Given the description of an element on the screen output the (x, y) to click on. 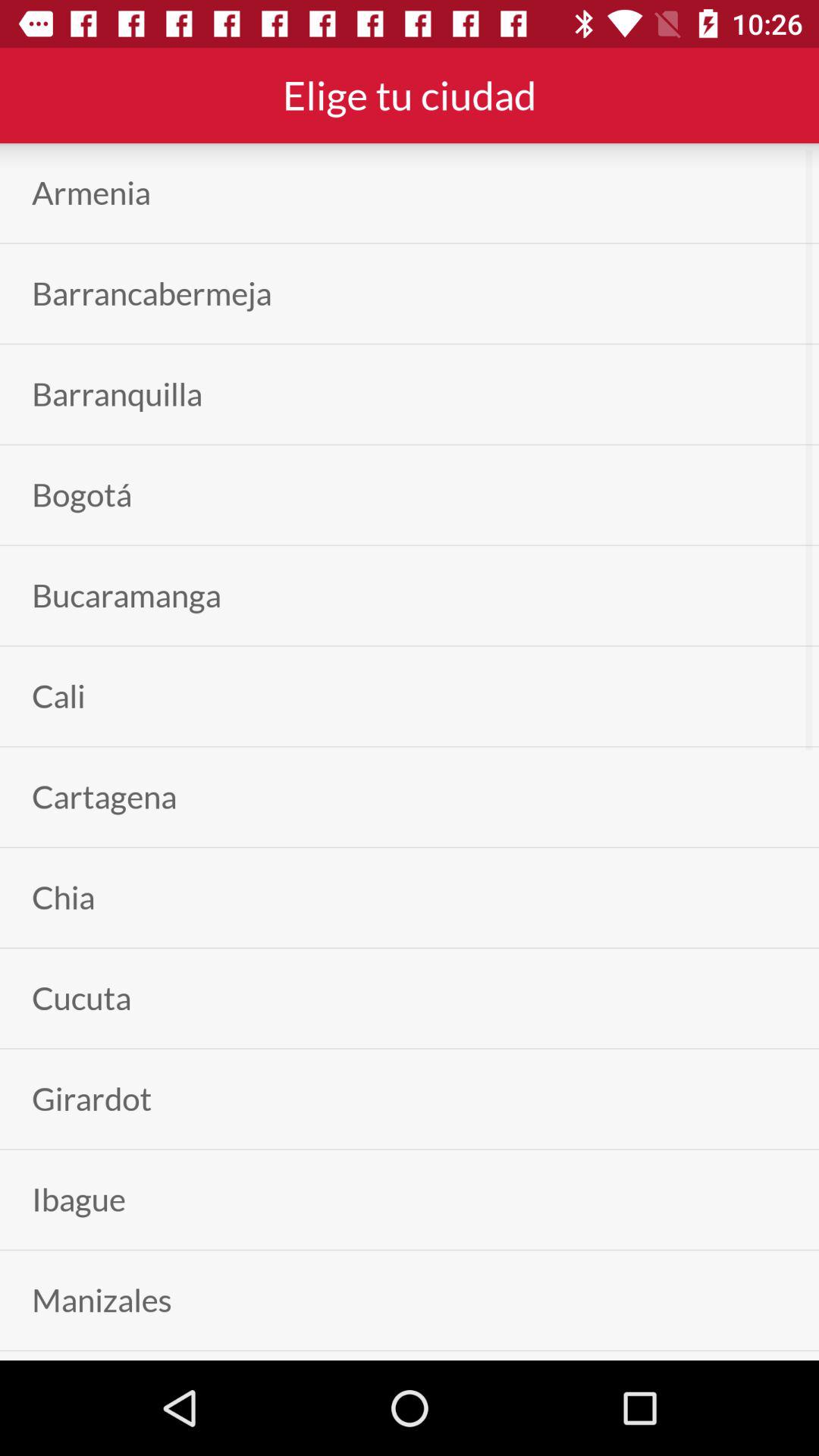
click the icon above ibague (91, 1099)
